Given the description of an element on the screen output the (x, y) to click on. 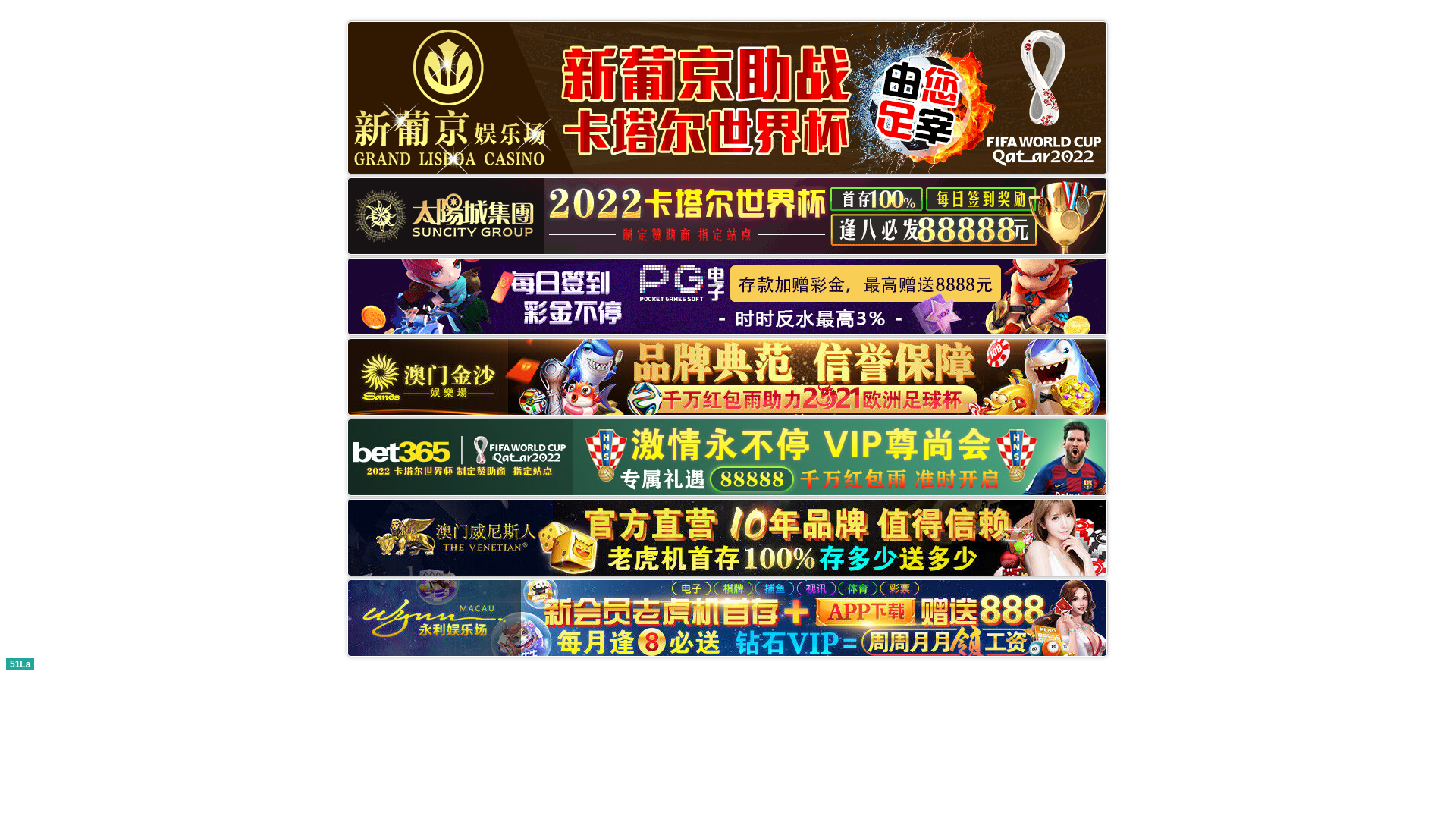
51La Element type: text (20, 662)
